Given the description of an element on the screen output the (x, y) to click on. 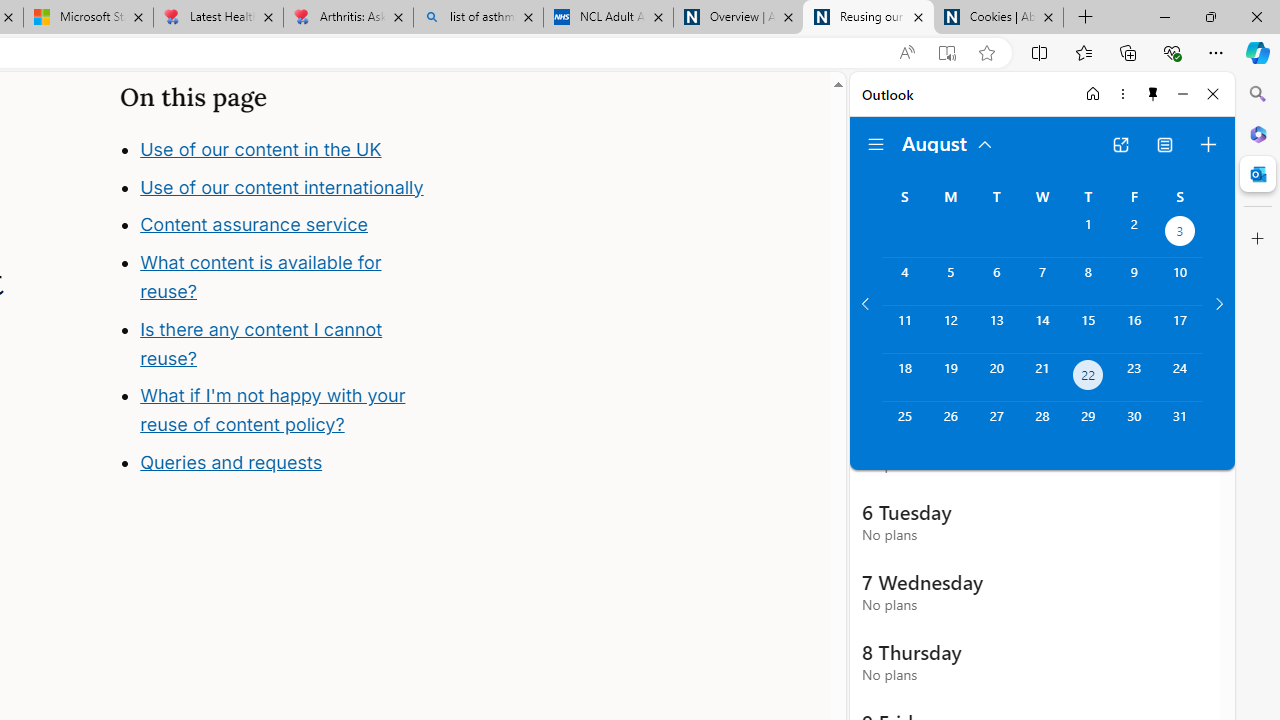
Friday, August 2, 2024.  (1134, 233)
Saturday, August 31, 2024.  (1180, 425)
Tuesday, August 13, 2024.  (996, 329)
Folder navigation (876, 144)
Class: in-page-nav__list (277, 308)
August (948, 141)
Create event (1208, 144)
Is there any content I cannot reuse? (298, 401)
Queries and requests (230, 461)
